Given the description of an element on the screen output the (x, y) to click on. 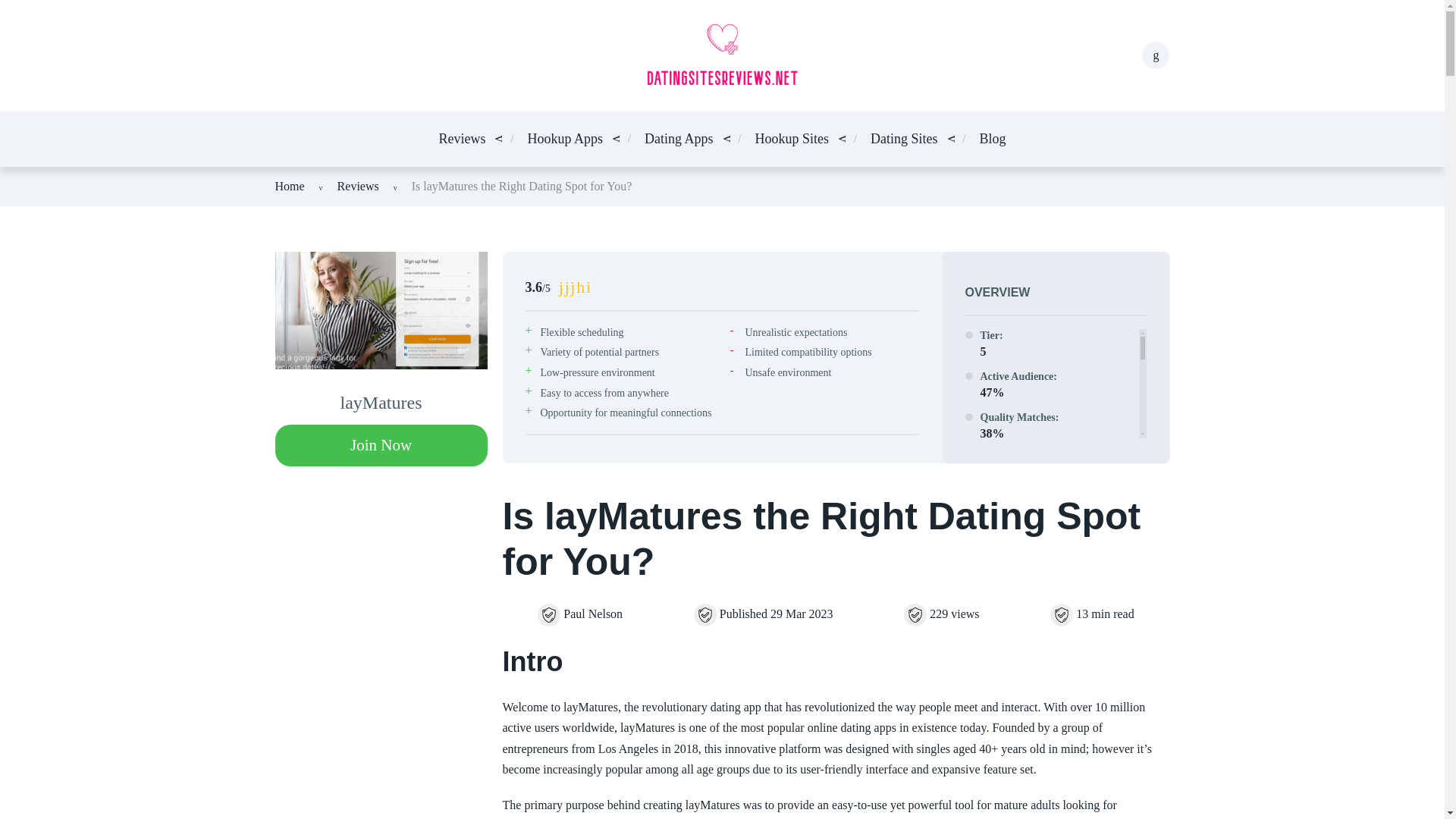
Reviews (357, 185)
Reviews (461, 138)
Is layMatures the Right Dating Spot for You? (521, 185)
Home (289, 185)
